Given the description of an element on the screen output the (x, y) to click on. 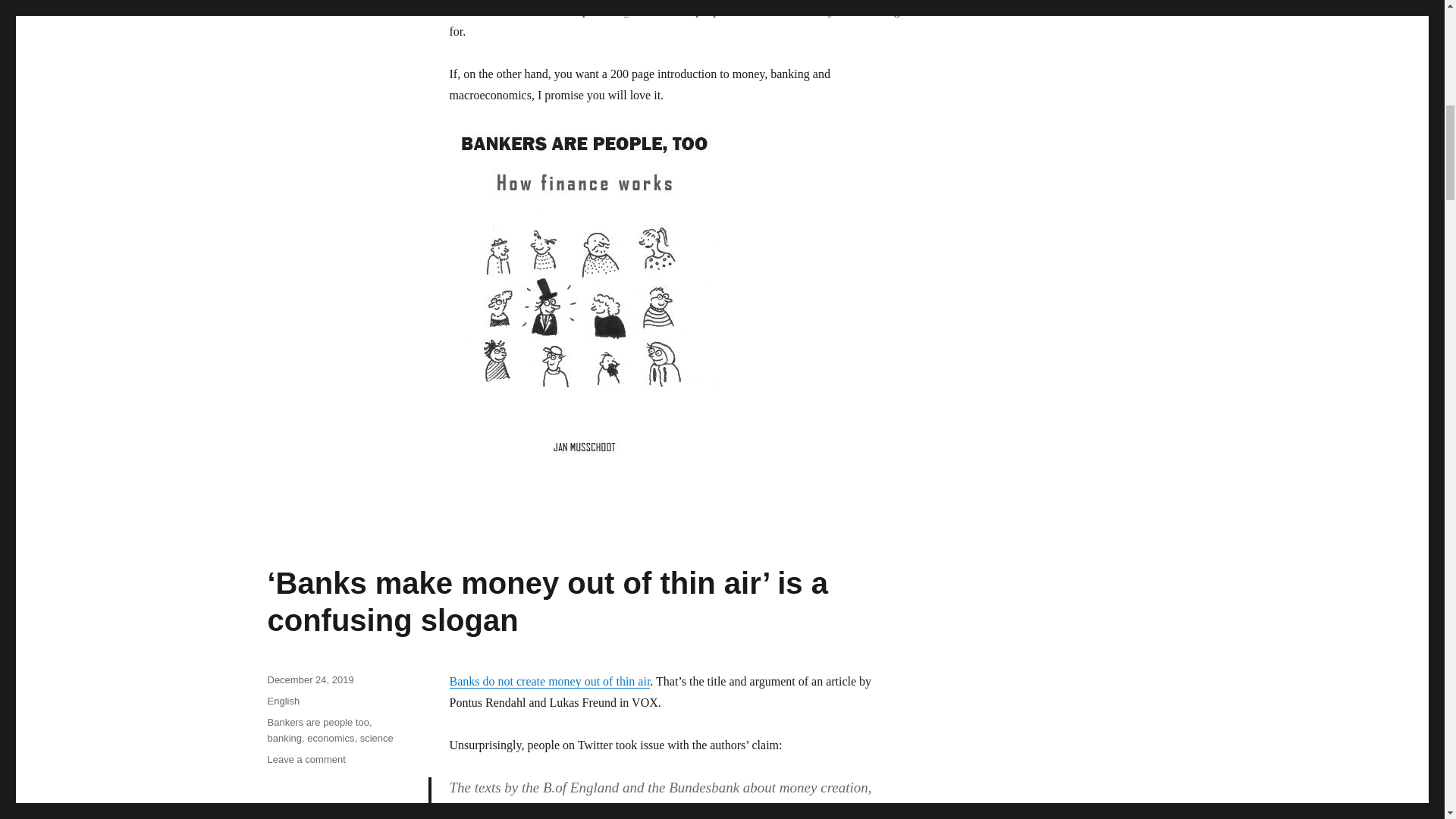
English (282, 700)
December 24, 2019 (309, 679)
science (376, 737)
banking (283, 737)
economics (330, 737)
Banks do not create money out of thin air (548, 680)
Bankers are people too (317, 722)
